Given the description of an element on the screen output the (x, y) to click on. 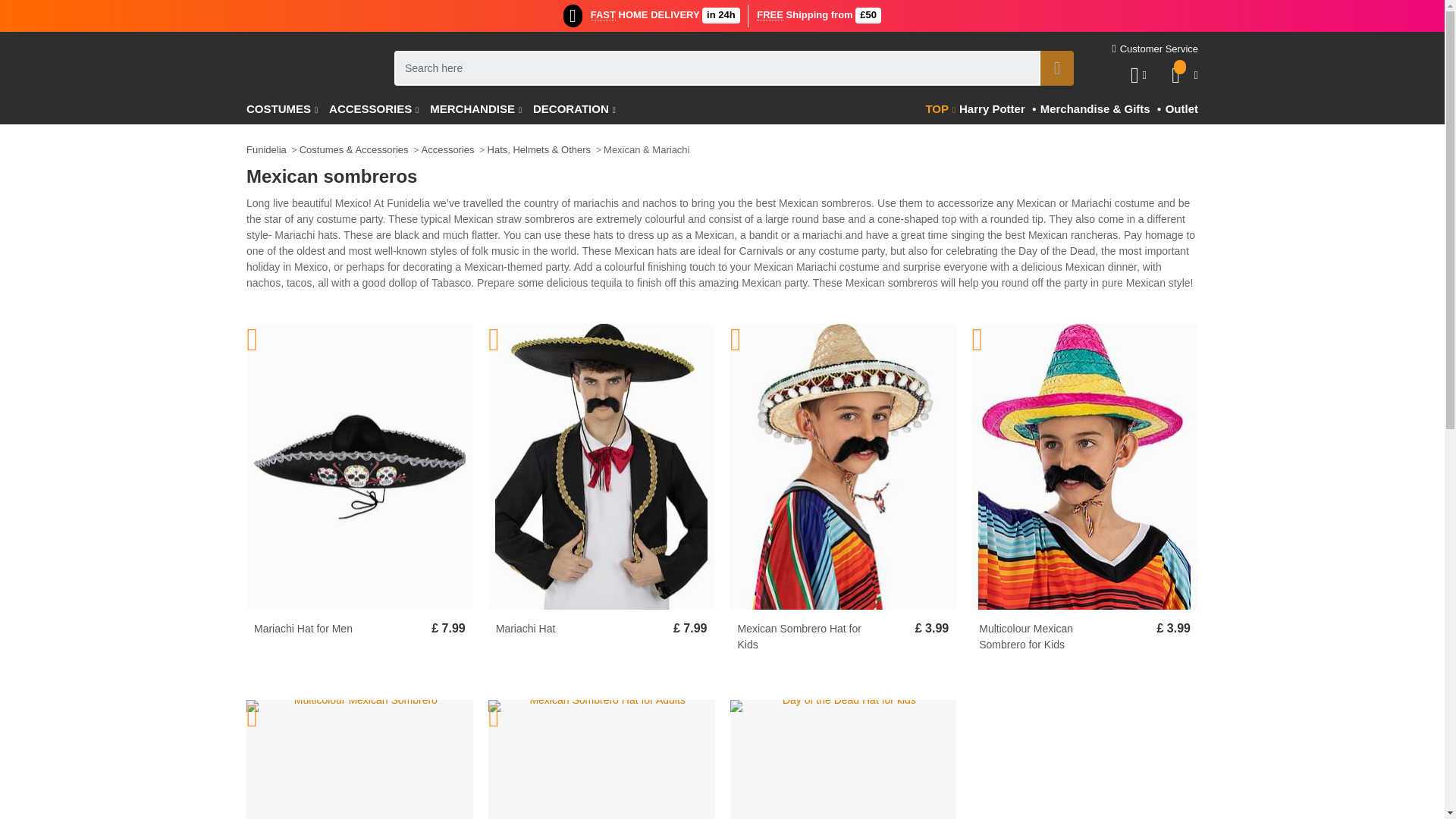
My Cart (1177, 75)
Outlet (1179, 109)
TOP (939, 109)
Harry Potter (990, 109)
Outlet (1179, 109)
Costumes (287, 109)
Customer Service (1155, 48)
COSTUMES (287, 109)
